Given the description of an element on the screen output the (x, y) to click on. 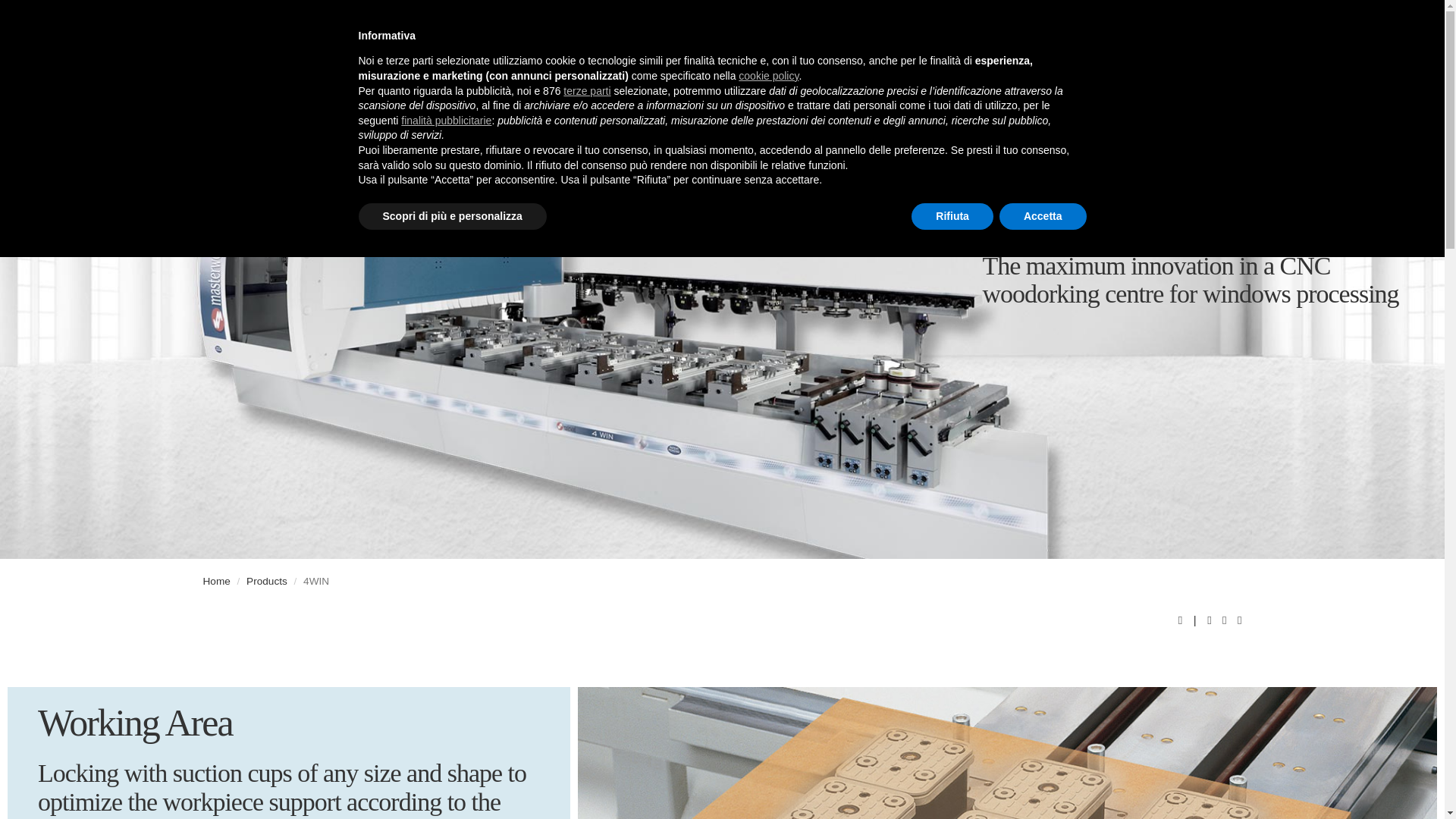
SOFTWARE (703, 52)
IT (1081, 17)
CASE HISTORY (804, 52)
Home (216, 581)
NEWS (1044, 52)
WOODWORKING TECHNOLOGY (294, 34)
SERVICES (901, 52)
ES (1139, 17)
EVENTS (978, 52)
PRODUCTS (614, 52)
CONTACTS (1118, 52)
COMPANY (527, 52)
Products (266, 581)
